Given the description of an element on the screen output the (x, y) to click on. 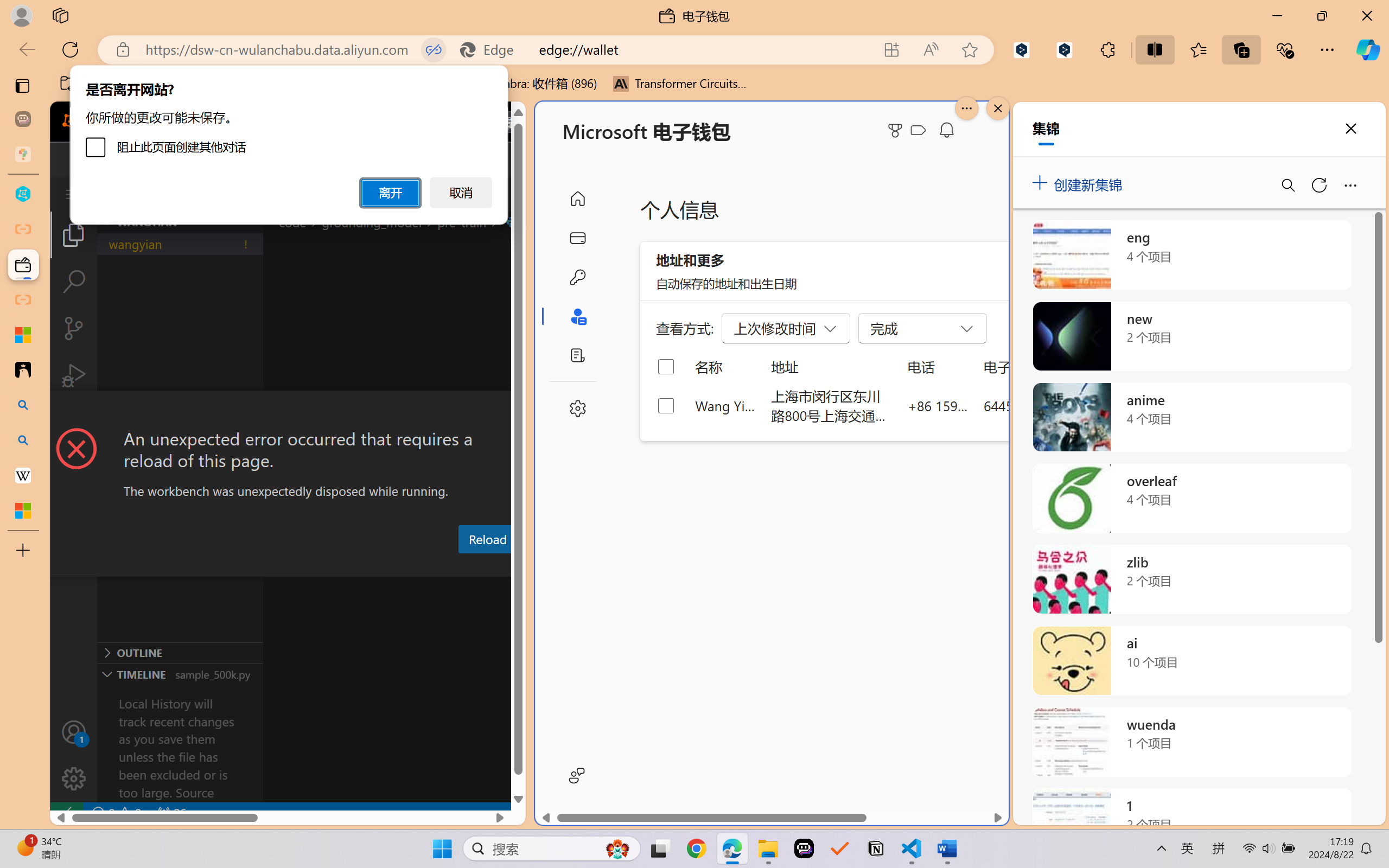
Microsoft Rewards (896, 129)
Google Chrome (696, 848)
Class: actions-container (287, 410)
Debug Console (Ctrl+Shift+Y) (463, 565)
644553698@qq.com (1043, 405)
